Given the description of an element on the screen output the (x, y) to click on. 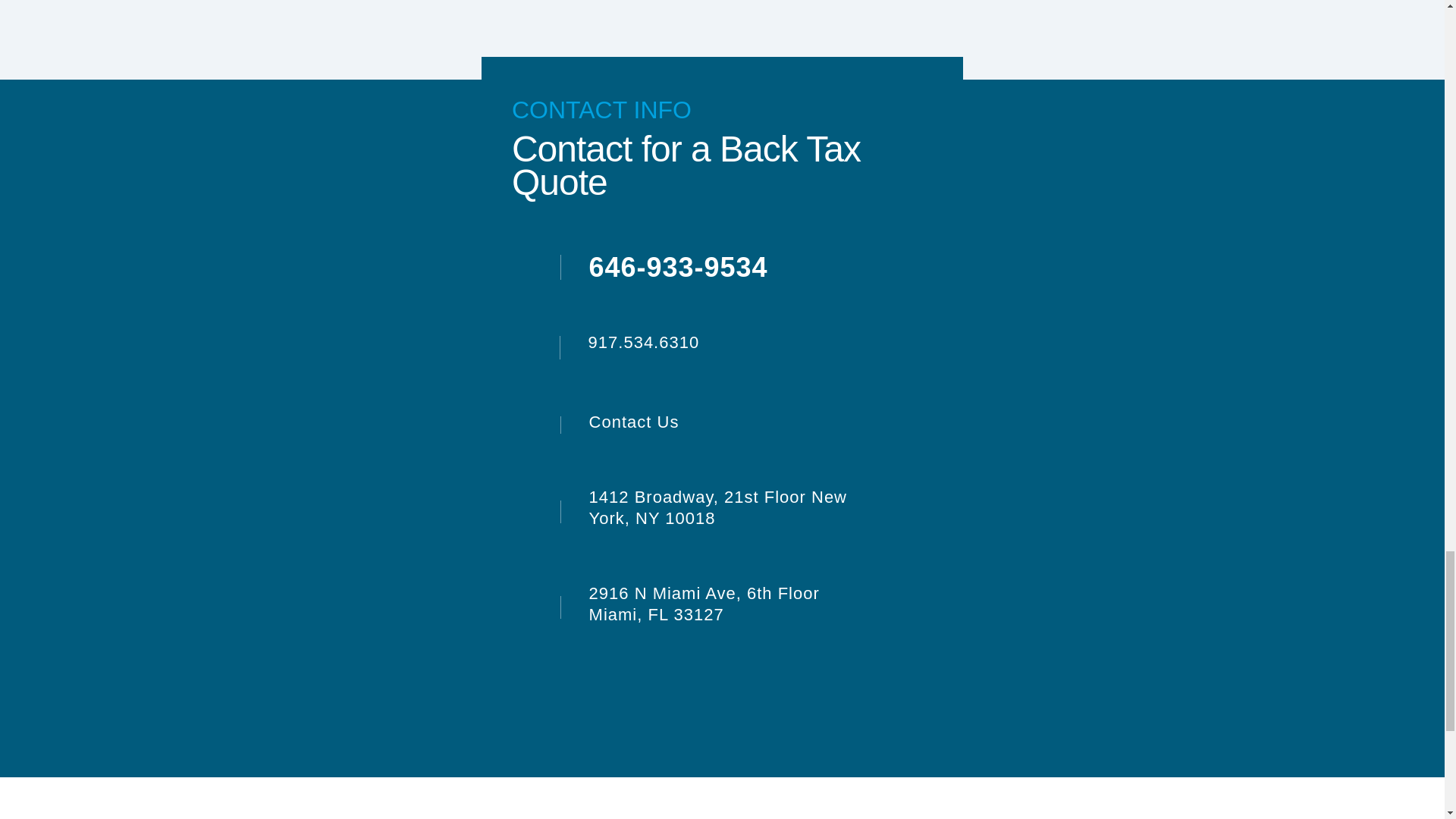
Contact Us (622, 421)
646-933-9534 (666, 270)
